Given the description of an element on the screen output the (x, y) to click on. 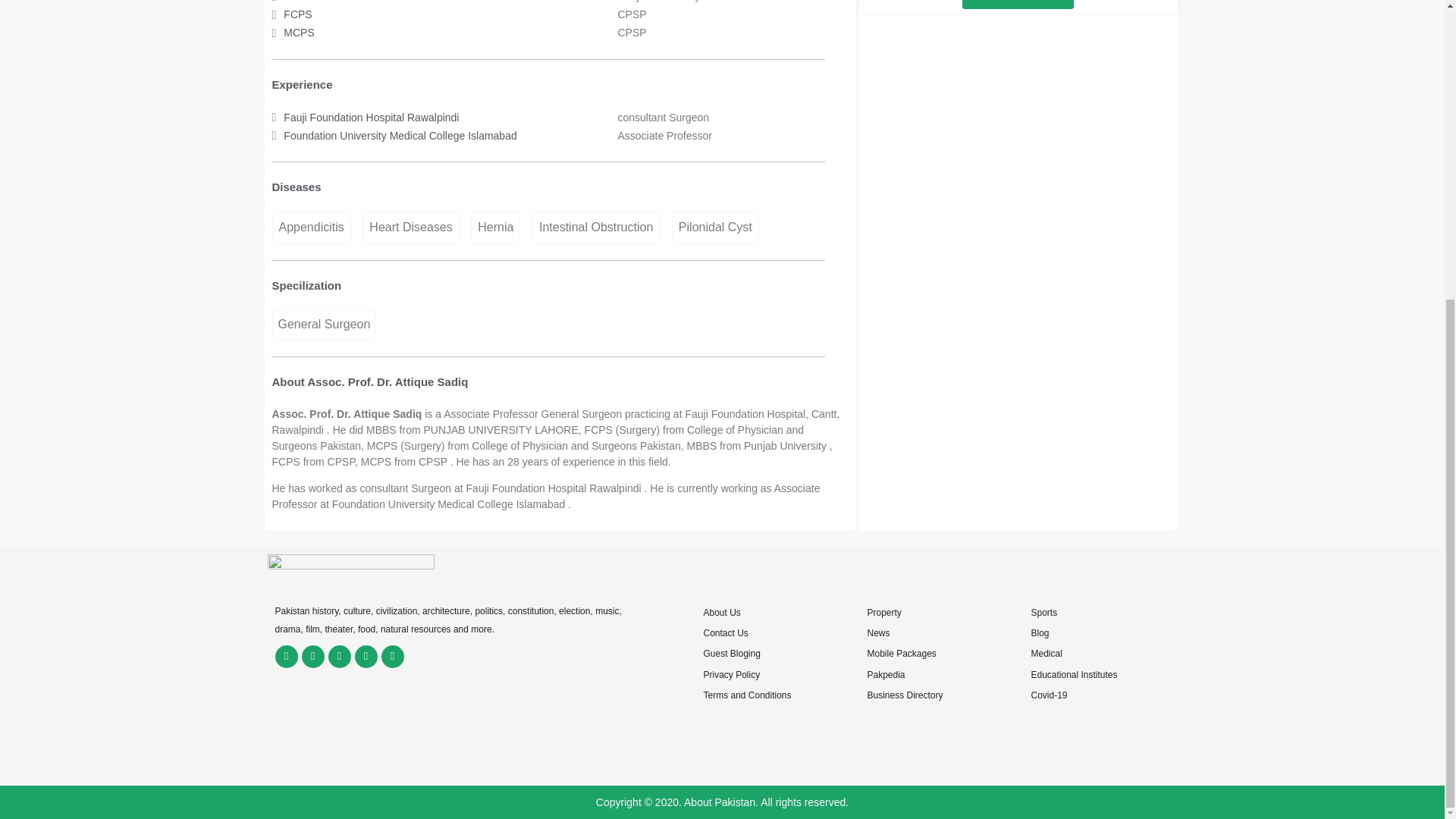
Property (883, 612)
Appendicitis (310, 227)
About Us (721, 612)
General Surgeon (322, 324)
Mobile Packages (901, 653)
Terms and Conditions (746, 695)
News (877, 633)
Hernia (494, 227)
Heart Diseases (410, 227)
Contact Us (725, 633)
